Given the description of an element on the screen output the (x, y) to click on. 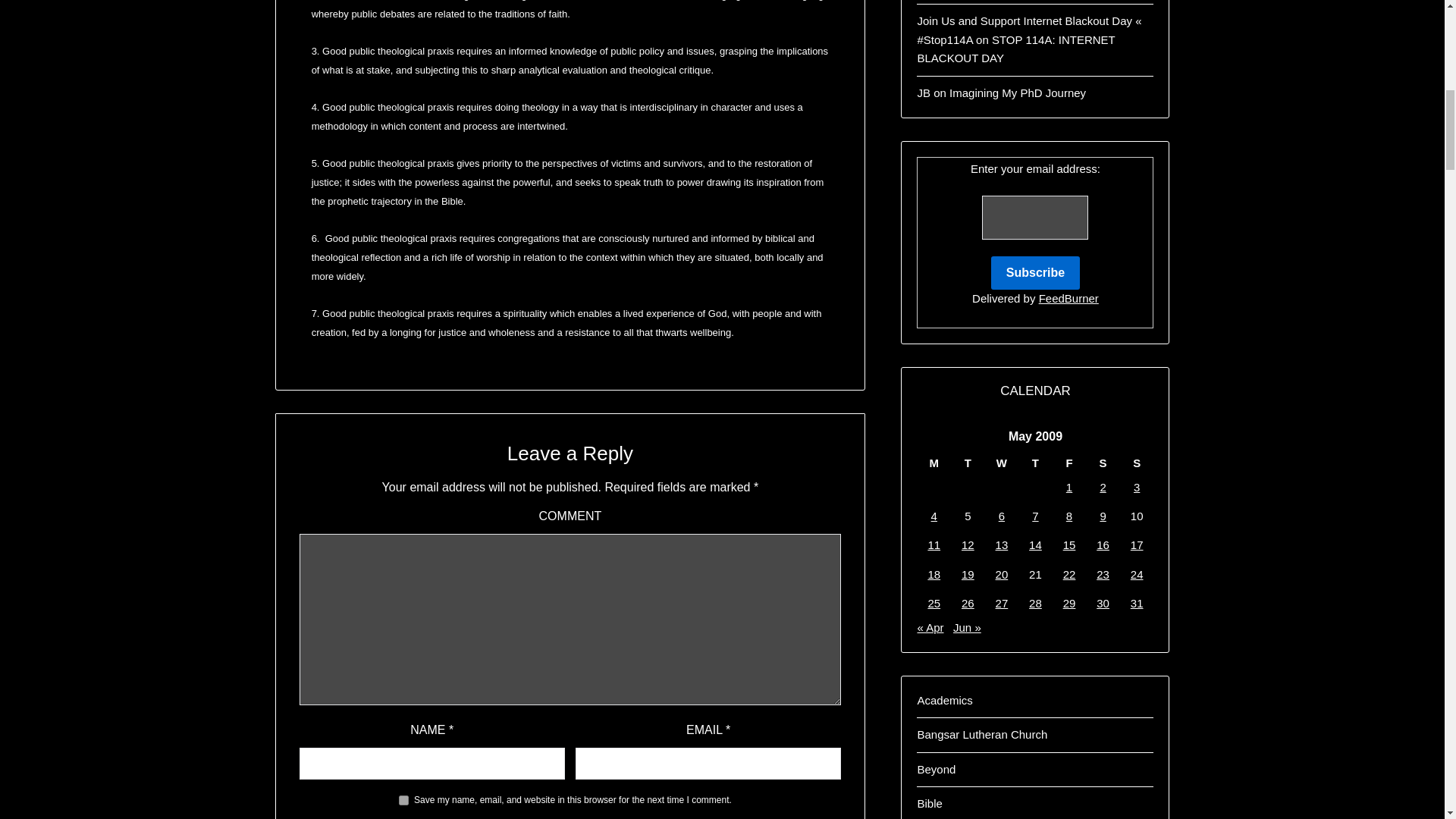
Thursday (1034, 463)
Saturday (1102, 463)
Tuesday (967, 463)
FeedBurner (1069, 297)
Friday (1069, 463)
Imagining My PhD Journey (1017, 92)
Subscribe (1035, 272)
Subscribe (1035, 272)
Monday (933, 463)
yes (403, 800)
